Given the description of an element on the screen output the (x, y) to click on. 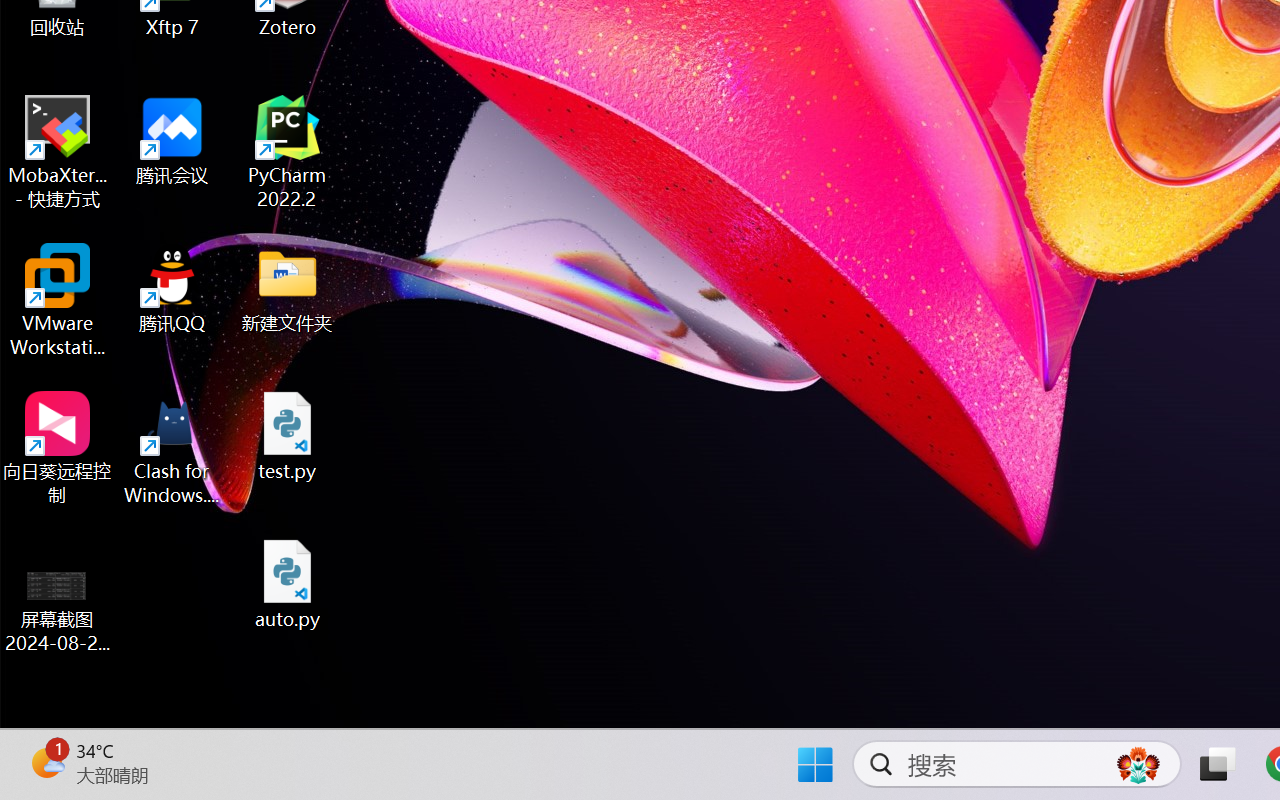
VMware Workstation Pro (57, 300)
